Given the description of an element on the screen output the (x, y) to click on. 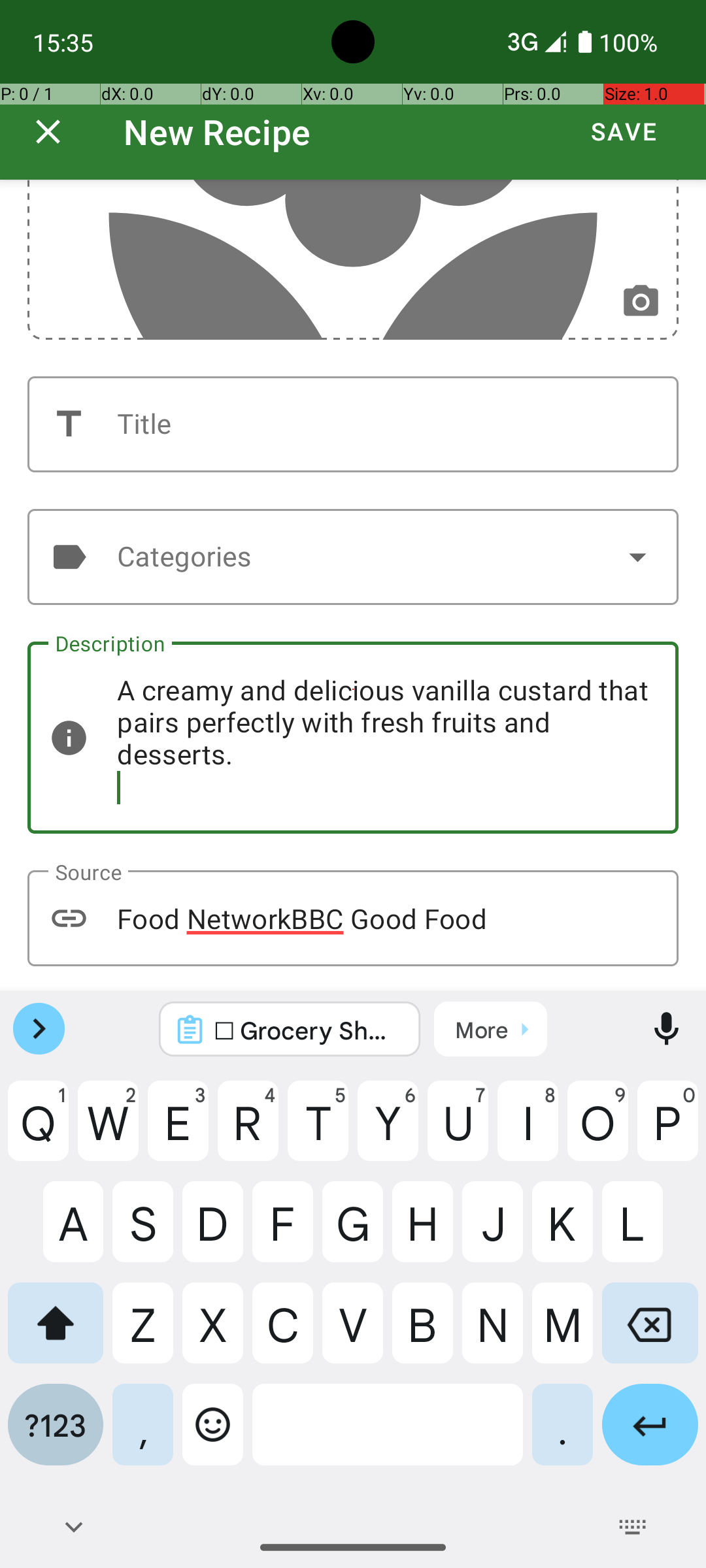
Change photo Element type: android.widget.ImageView (640, 301)
Title Element type: android.widget.EditText (352, 424)
A creamy and delicious vanilla custard that pairs perfectly with fresh fruits and desserts.
 Element type: android.widget.EditText (352, 737)
Food NetworkBBC Good Food Element type: android.widget.EditText (352, 918)
☐ Grocery Shopping ☐ Call Grandma ☐ Attend Team Meeting ☐ Take Dog to the Vet ☐ Finish Project Proposal ☐ Water Plants ☐ Reply to Emails ☐ Change Air Filter ☐ Submit Expense Report ☐ Submit Budget Report ☑ Read 'The Martian' ☑ Grocery Shopping ☑ Submit Expense Report ☑ Brainstorm Blog Post Ideas ☑ Change Air Filter ☑ Research Vacation Destinations ☑ Finish Project Proposal ☑ Change Air Filter ☑ Take Dog to the Vet ☑ Submit Expense Report ☑ Learn to Play Guitar Element type: android.widget.TextView (306, 1029)
